Given the description of an element on the screen output the (x, y) to click on. 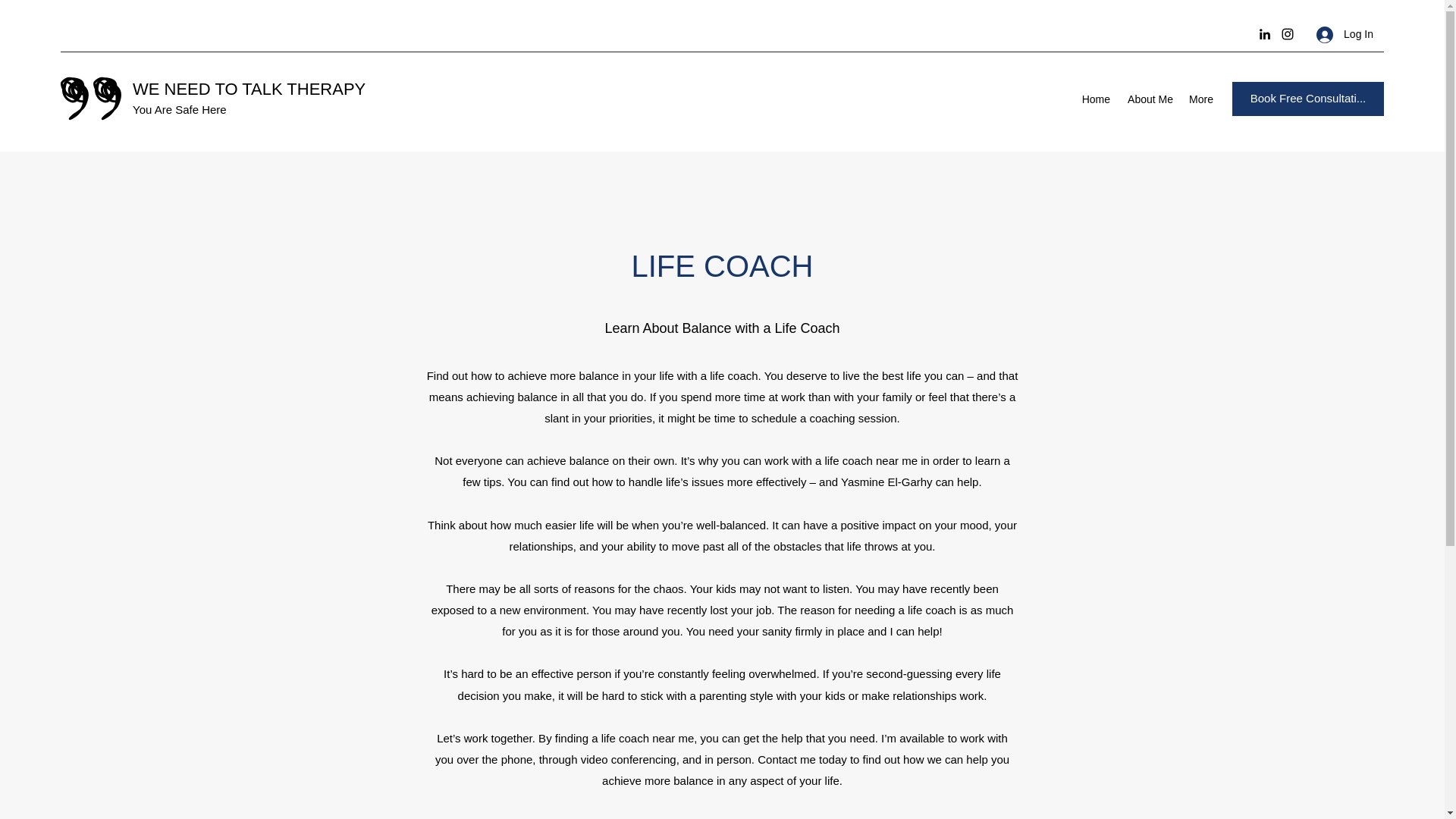
Home (1095, 98)
About Me (1149, 98)
Book Free Consultati... (1307, 98)
WE NEED TO TALK THERAPY (248, 88)
Log In (1345, 34)
